Given the description of an element on the screen output the (x, y) to click on. 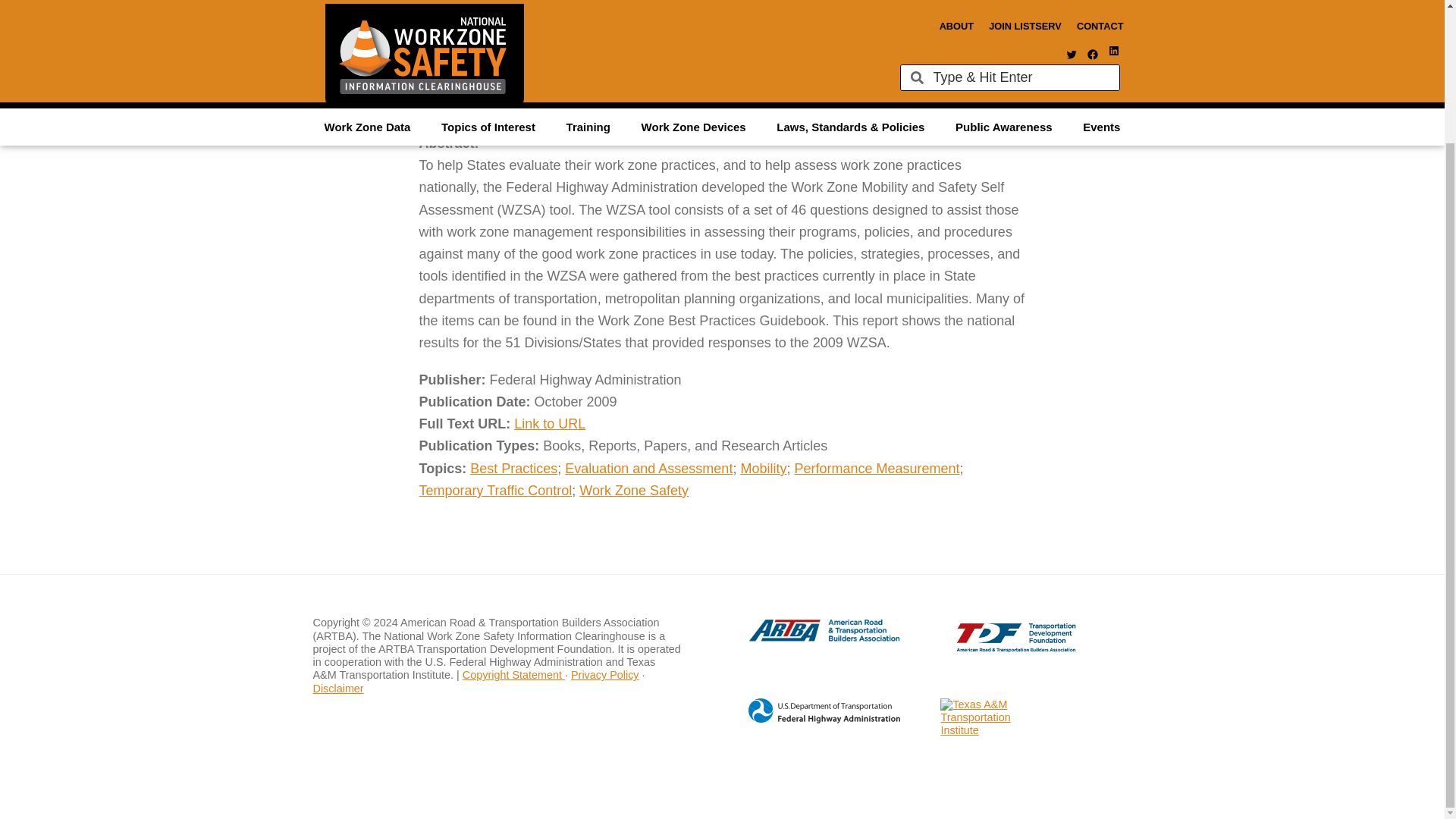
Evaluation and Assessment (648, 468)
Link to URL (549, 423)
ARTBA website (808, 638)
Performance Measurement (876, 468)
ARTBA Transportation Development Foundation website (985, 647)
Best Practices (513, 468)
FHWA website (808, 720)
Mobility (762, 468)
